Given the description of an element on the screen output the (x, y) to click on. 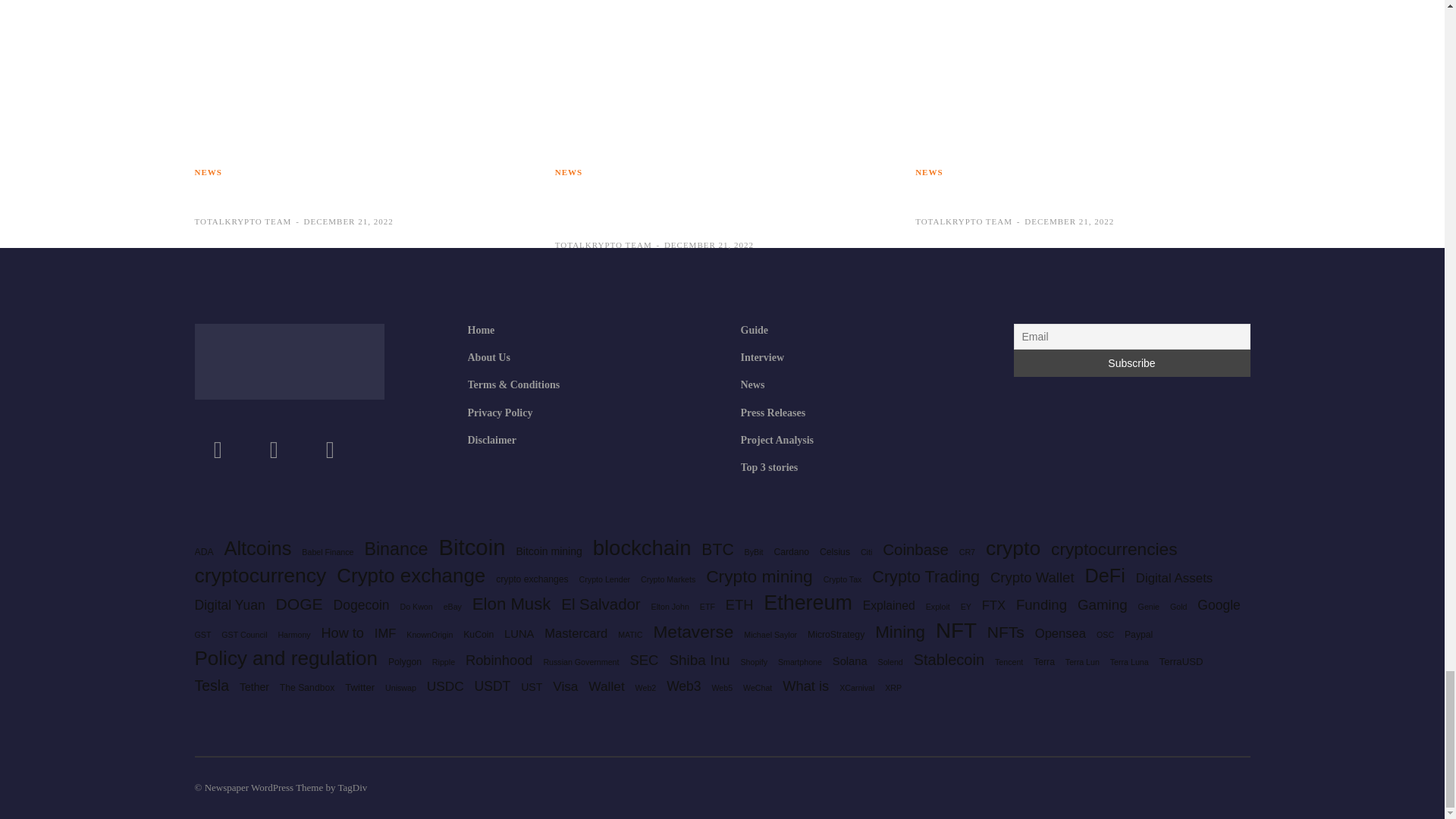
Subscribe (1131, 362)
